Given the description of an element on the screen output the (x, y) to click on. 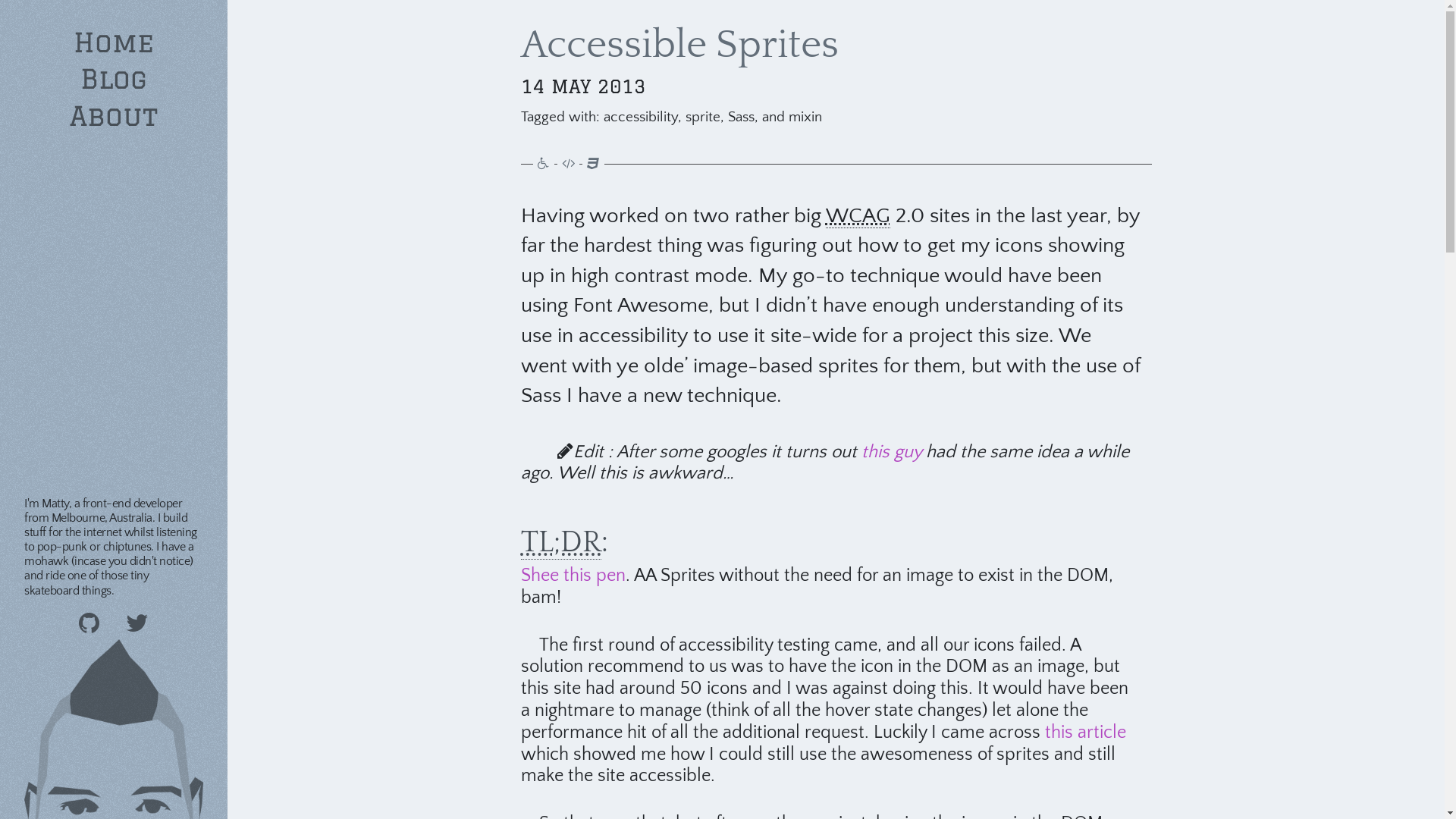
this guy Element type: text (891, 451)
Shee this pen Element type: text (572, 575)
this article Element type: text (1085, 732)
About Element type: text (113, 115)
Blog Element type: text (113, 78)
Home Element type: text (113, 42)
